Given the description of an element on the screen output the (x, y) to click on. 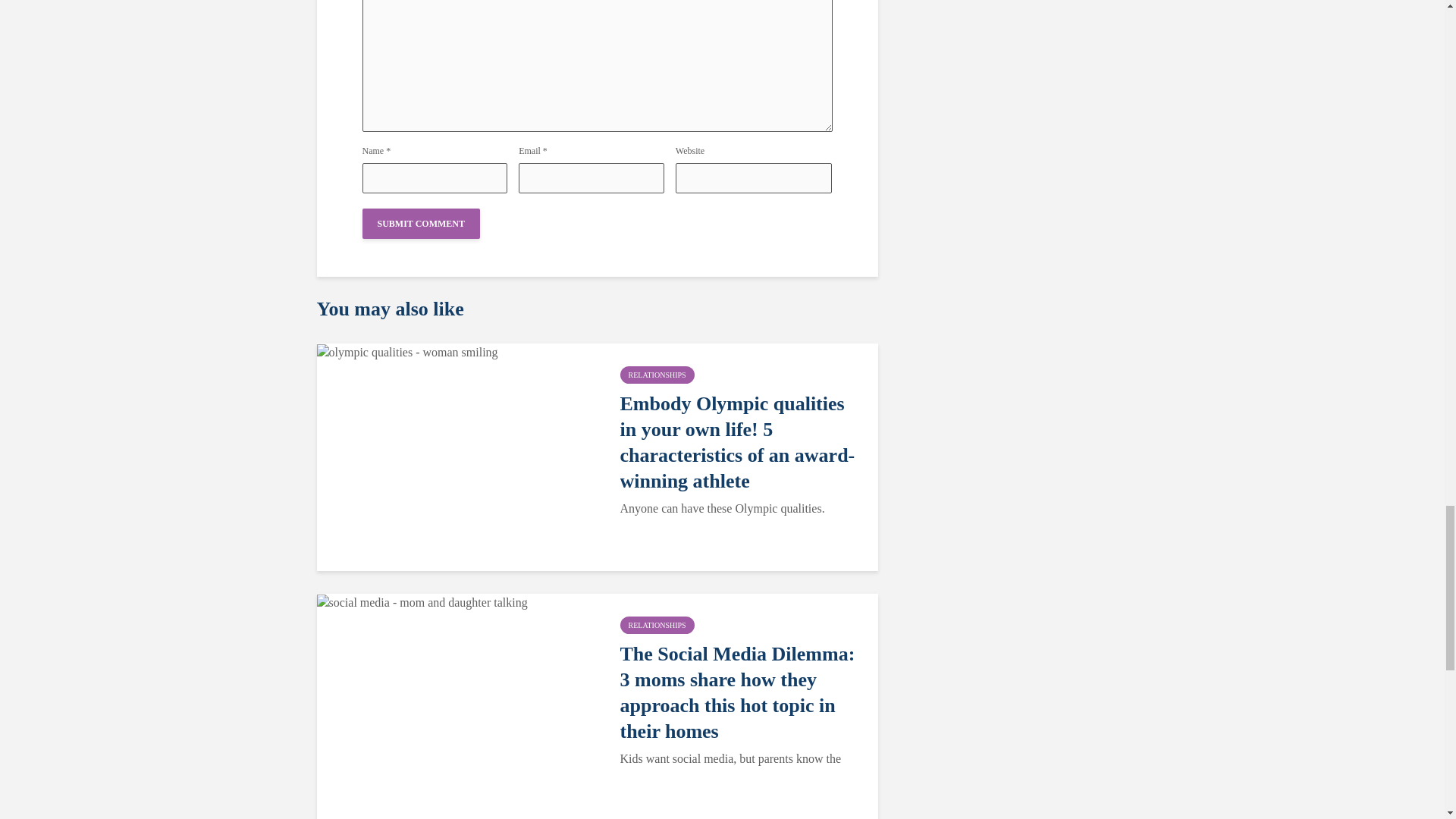
Submit Comment (421, 223)
Submit Comment (421, 223)
RELATIONSHIPS (657, 375)
